Given the description of an element on the screen output the (x, y) to click on. 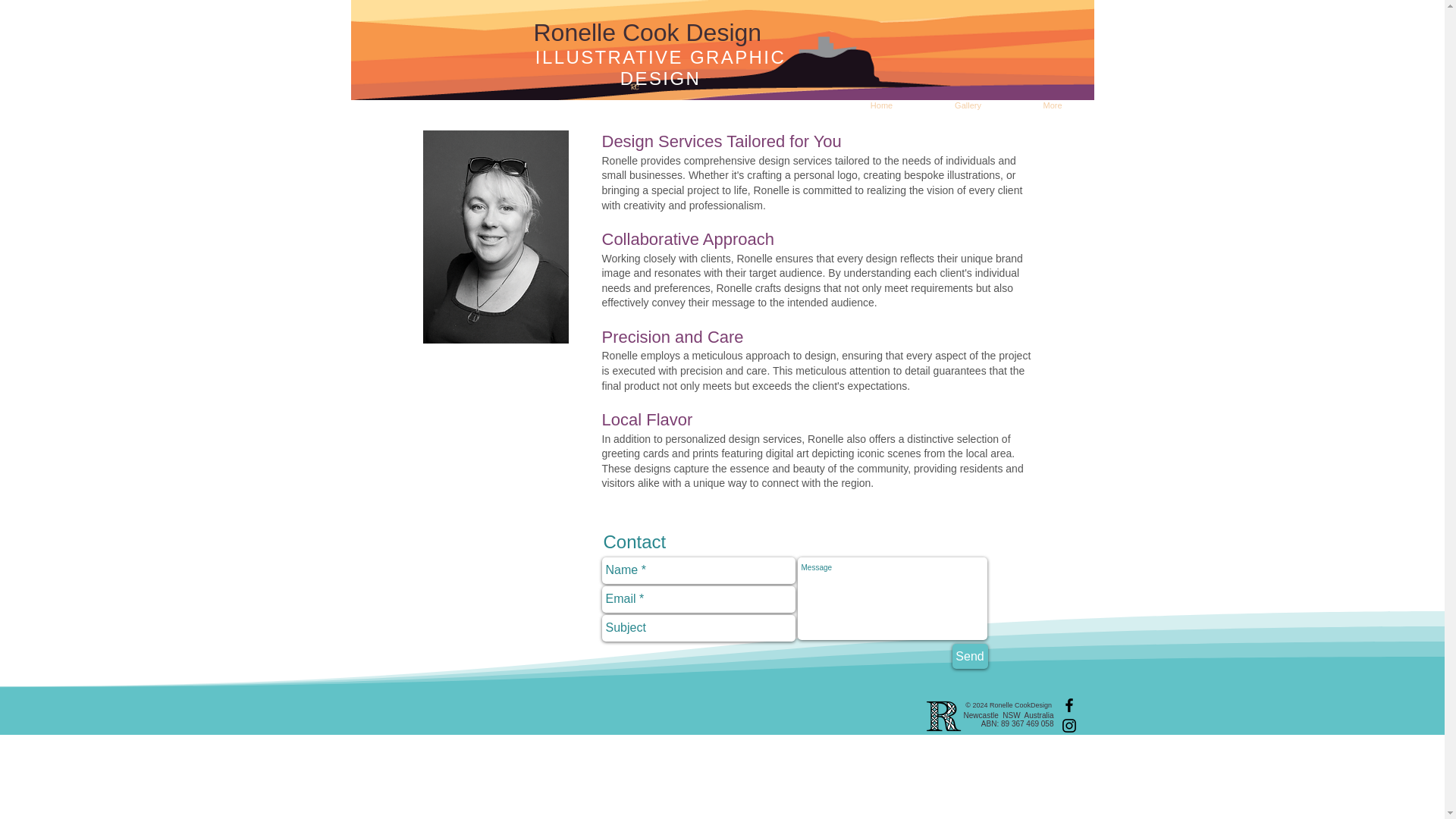
Home (880, 105)
Send (970, 656)
Gallery (967, 105)
Illustration by Ronelle (721, 49)
